Given the description of an element on the screen output the (x, y) to click on. 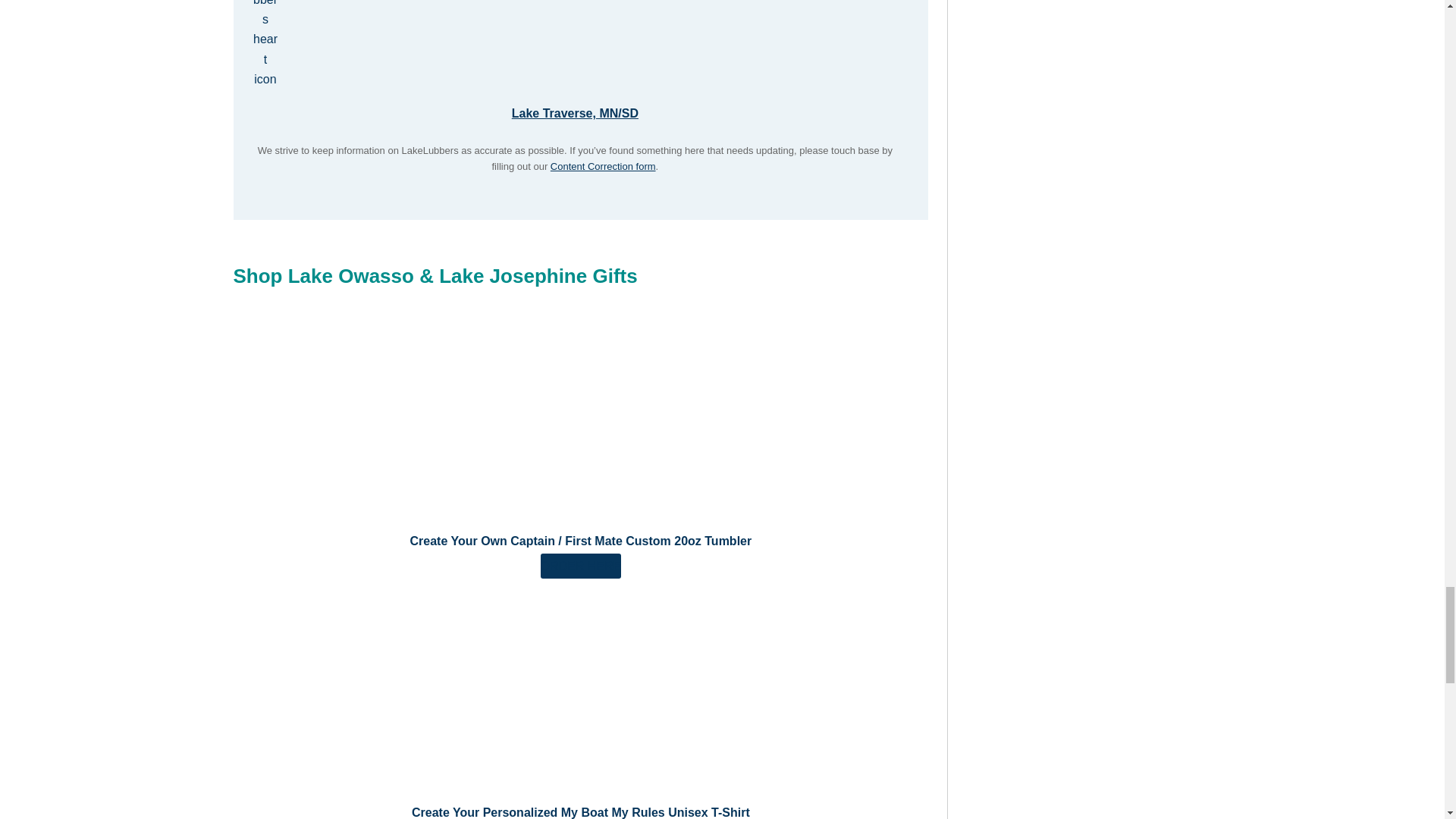
Custom Lake Shirt - My Boat My Rules (580, 688)
Custom Lake Tumbler - Captain or First Mate (580, 417)
Custom Lake Tumbler - Captain or First Mate (580, 565)
